Given the description of an element on the screen output the (x, y) to click on. 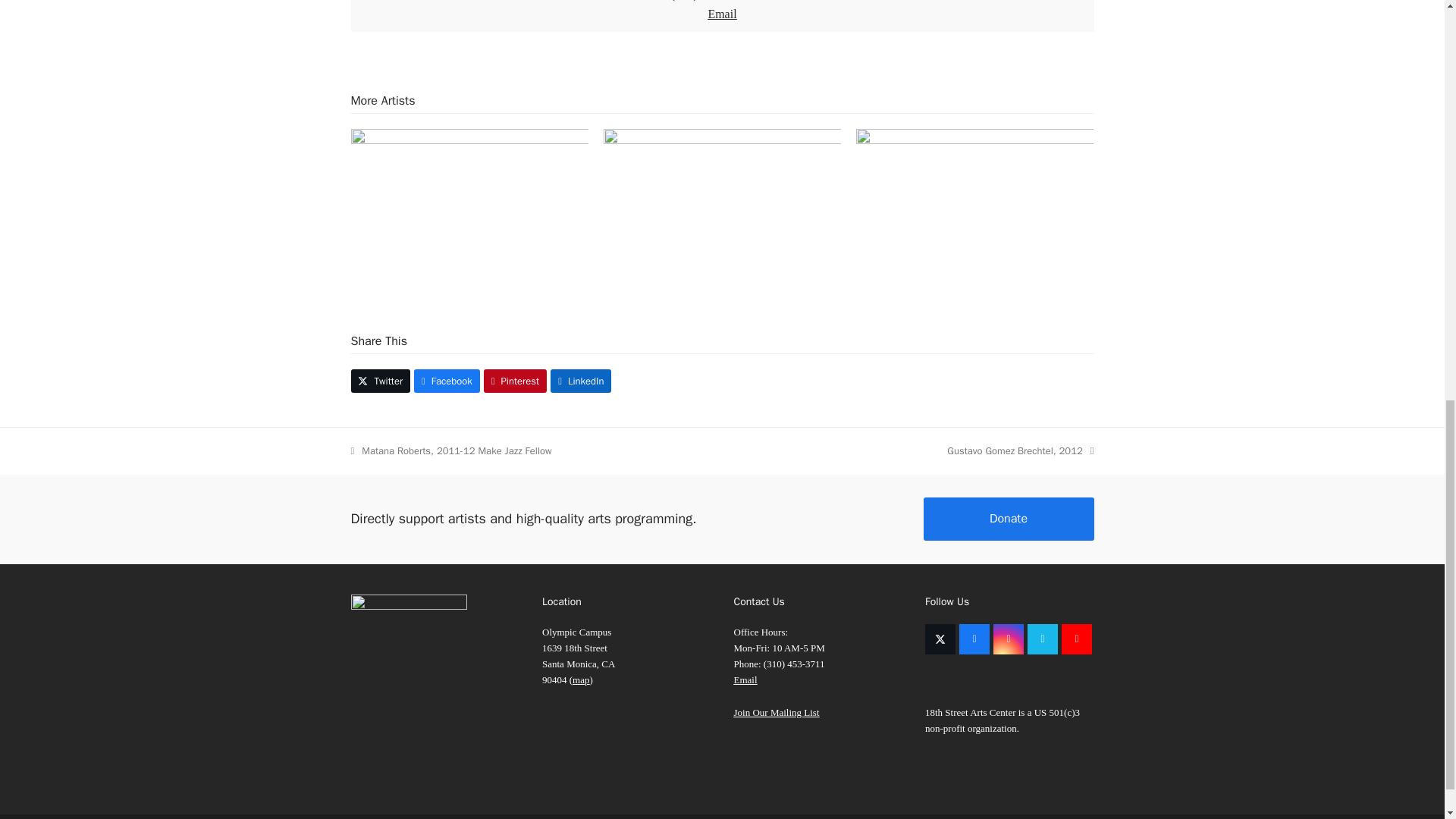
Email (721, 13)
YouTube (1076, 639)
Facebook (974, 639)
Pinterest (515, 381)
Jared Haug  February 2024 (974, 206)
Stella McGarvey  April 2024 (469, 206)
Facebook (446, 381)
Instagram (1007, 639)
Vimeo (1042, 639)
Twitter (380, 381)
